Given the description of an element on the screen output the (x, y) to click on. 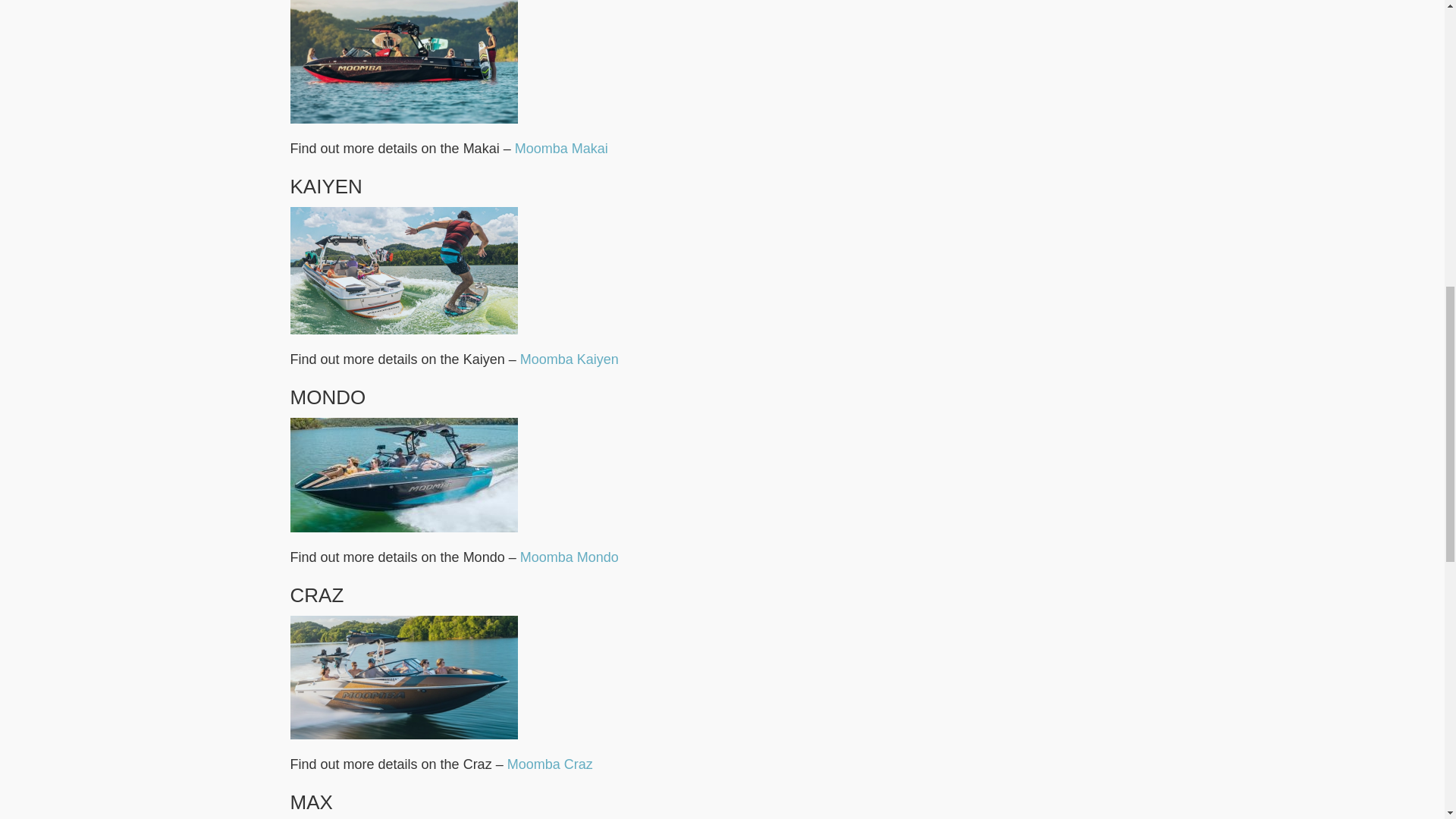
Moomba Kaiyen (568, 359)
Moomba Mondo (568, 557)
Moomba Makai (561, 148)
